Given the description of an element on the screen output the (x, y) to click on. 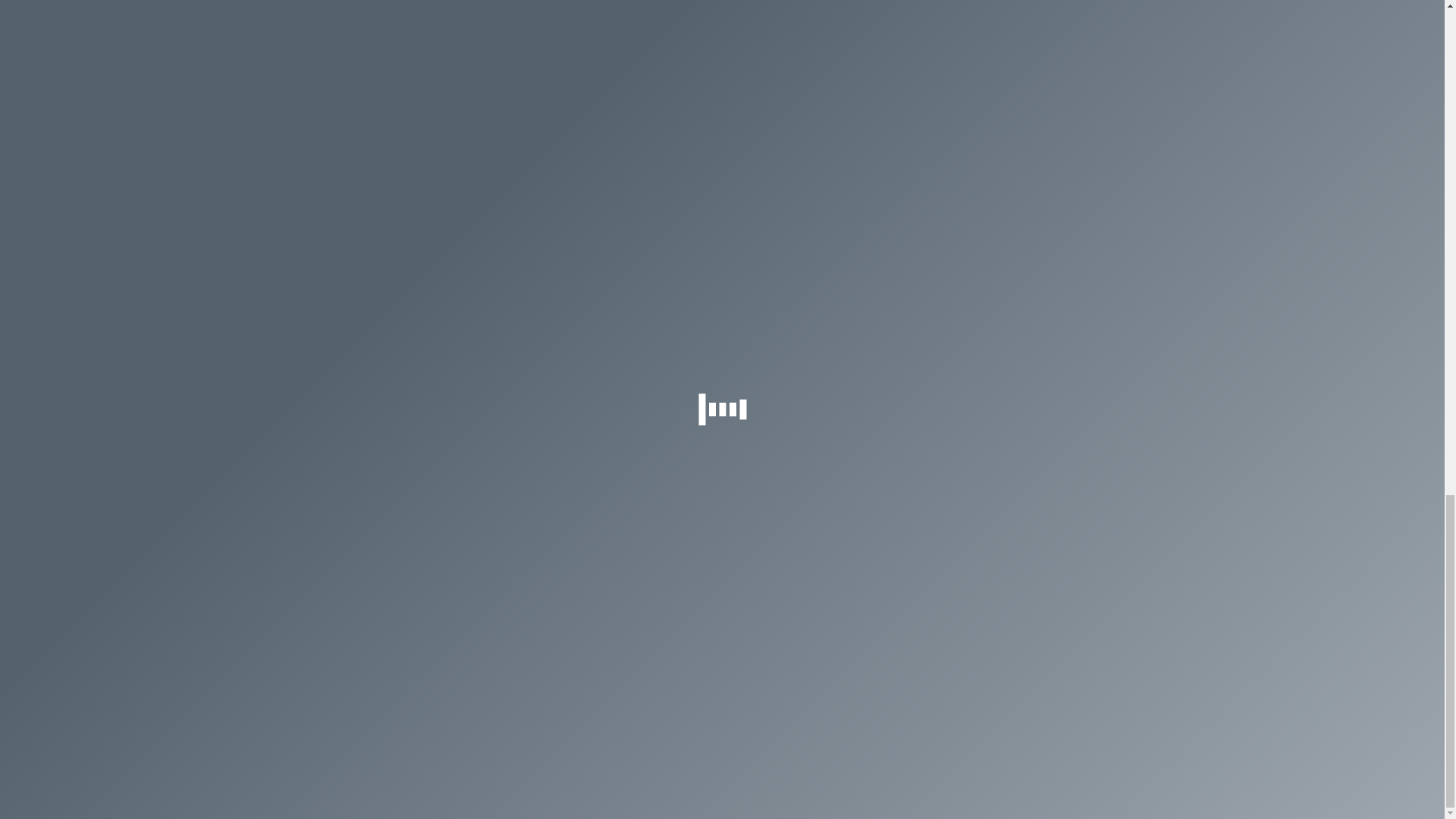
Adapting Rituals in a Time Where Change is Inevitable (783, 22)
Twitter page opens in new window (617, 547)
Facebook page opens in new window (594, 547)
No Pain, No Brain Gain (424, 186)
Linkedin page opens in new window (639, 547)
Are you experiencing Zoom Fatigue? (458, 12)
A Mental Framework for Learning (449, 99)
Accountability (725, 99)
